Given the description of an element on the screen output the (x, y) to click on. 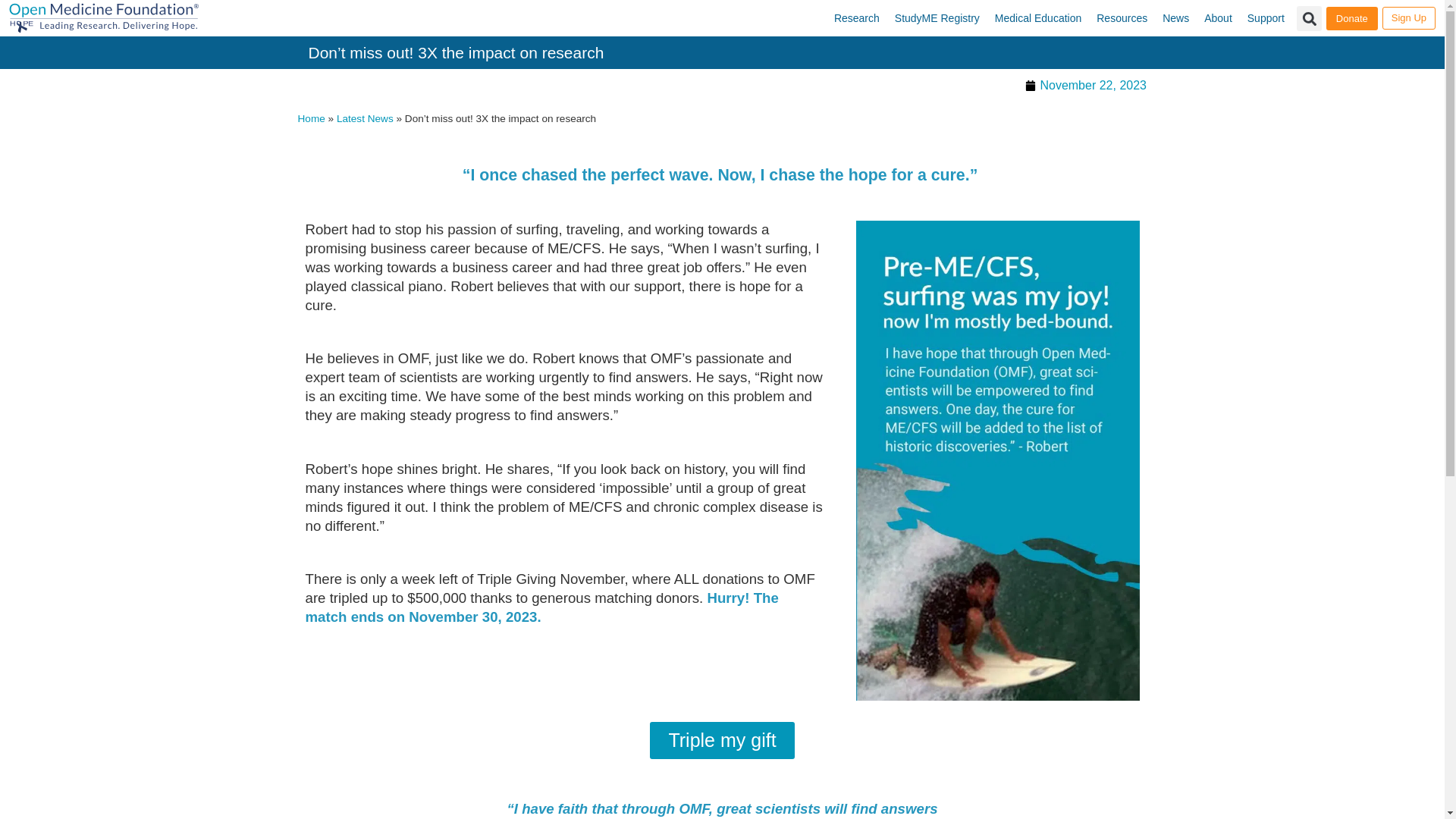
Medical Education (1038, 18)
News (1175, 18)
StudyME Registry (936, 18)
Research (856, 18)
Resources (1121, 18)
About (1218, 18)
